Given the description of an element on the screen output the (x, y) to click on. 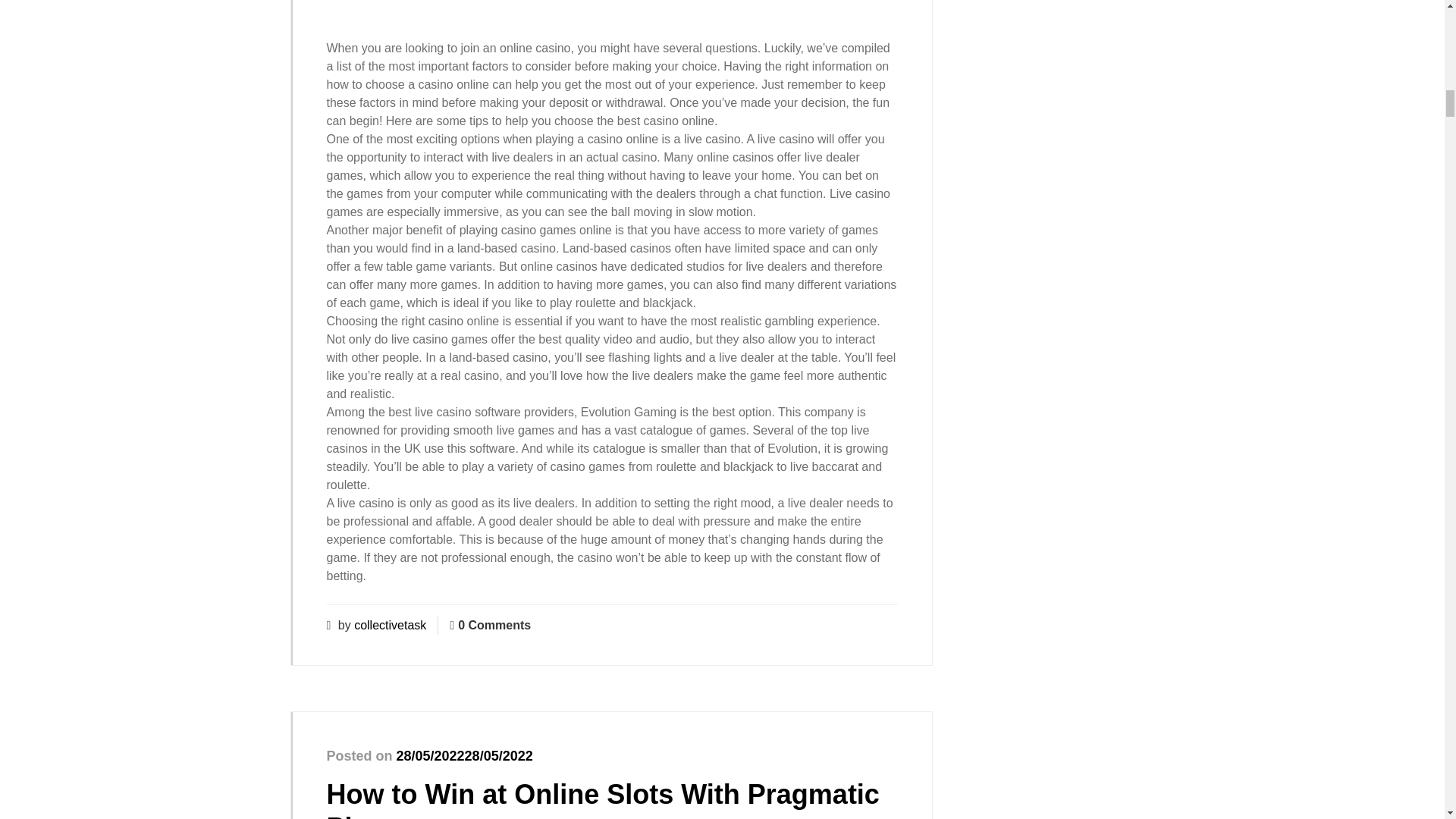
How to Win at Online Slots With Pragmatic Play (602, 798)
collectivetask (389, 625)
